Given the description of an element on the screen output the (x, y) to click on. 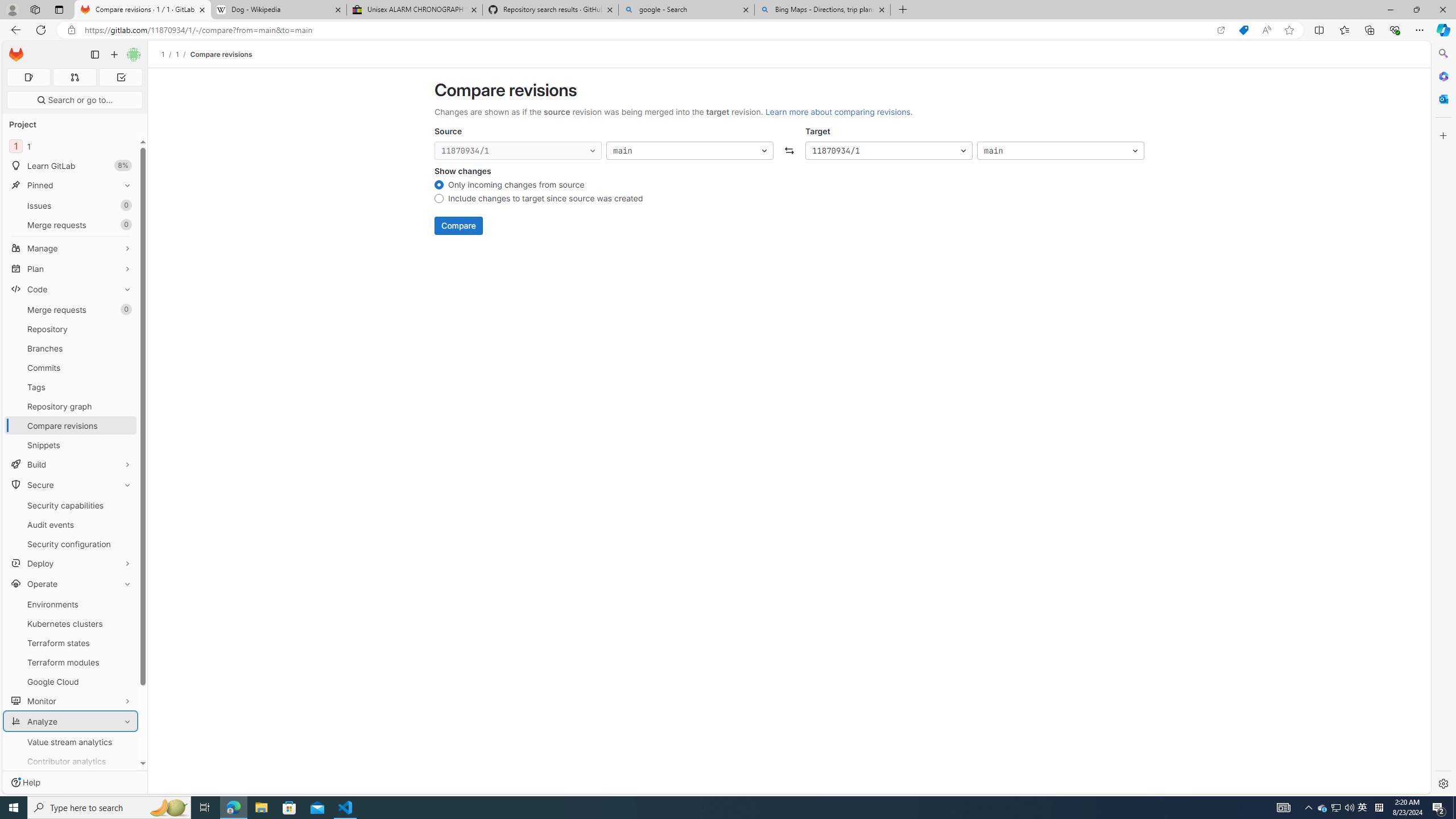
Branches (70, 348)
Repository analytics (70, 799)
google - Search (685, 9)
CI/CD analytics (70, 780)
Pin Google Cloud (124, 681)
Security capabilities (70, 505)
Swap (788, 150)
Dog - Wikipedia (277, 9)
main (1060, 150)
Code (70, 289)
Pin Snippets (124, 445)
1/ (183, 53)
